Given the description of an element on the screen output the (x, y) to click on. 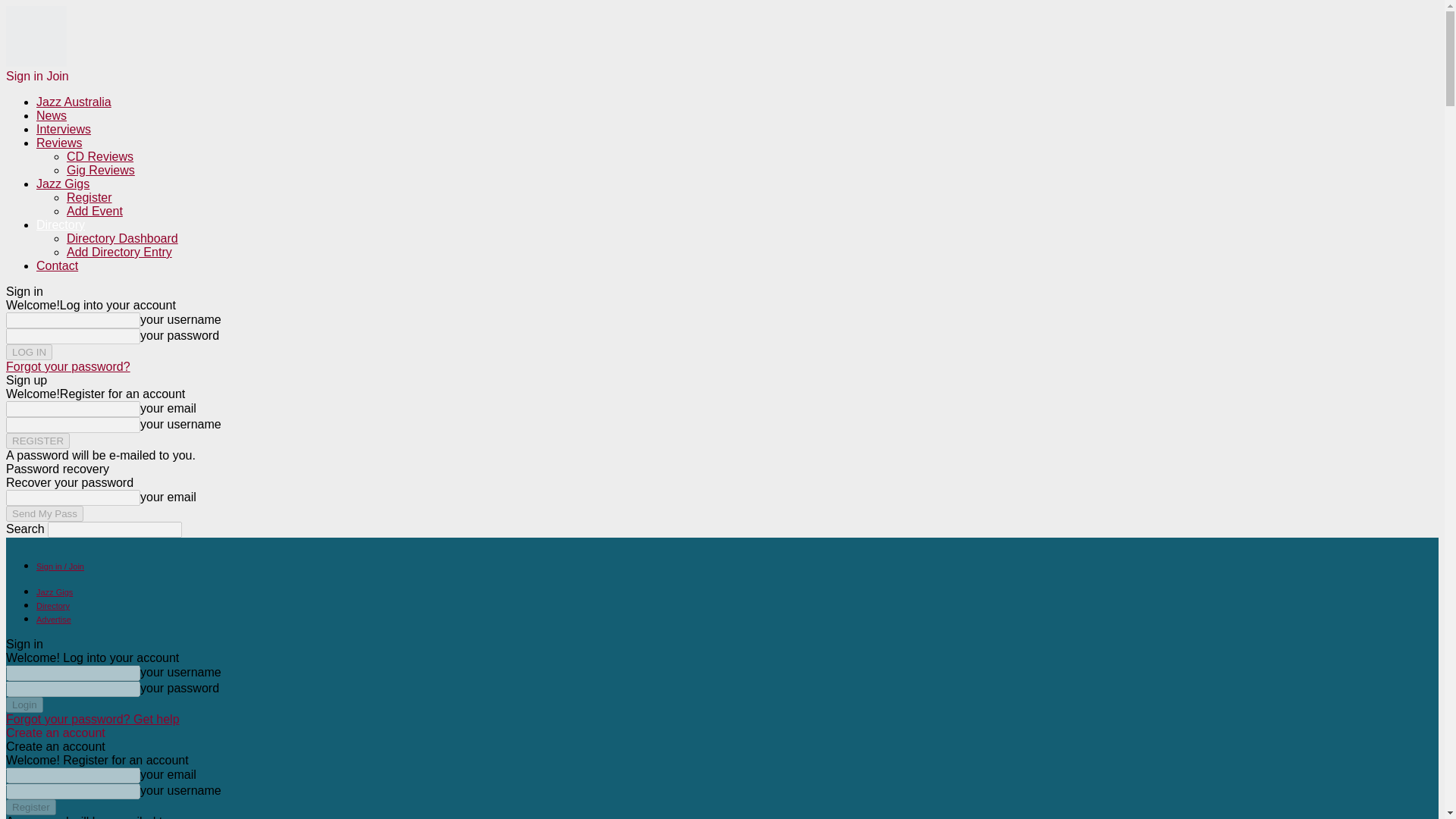
Gig Reviews (100, 169)
Reviews (58, 142)
Interviews (63, 128)
LOG IN (28, 351)
Login (24, 704)
REGISTER (37, 440)
CD Reviews (99, 155)
Forgot your password? Get help (92, 718)
Directory (60, 224)
Directory Dashboard (121, 237)
Send My Pass (43, 513)
Forgot your password? (68, 366)
Jazz Gigs (54, 592)
Contact (57, 265)
Jazz Australia (74, 101)
